Given the description of an element on the screen output the (x, y) to click on. 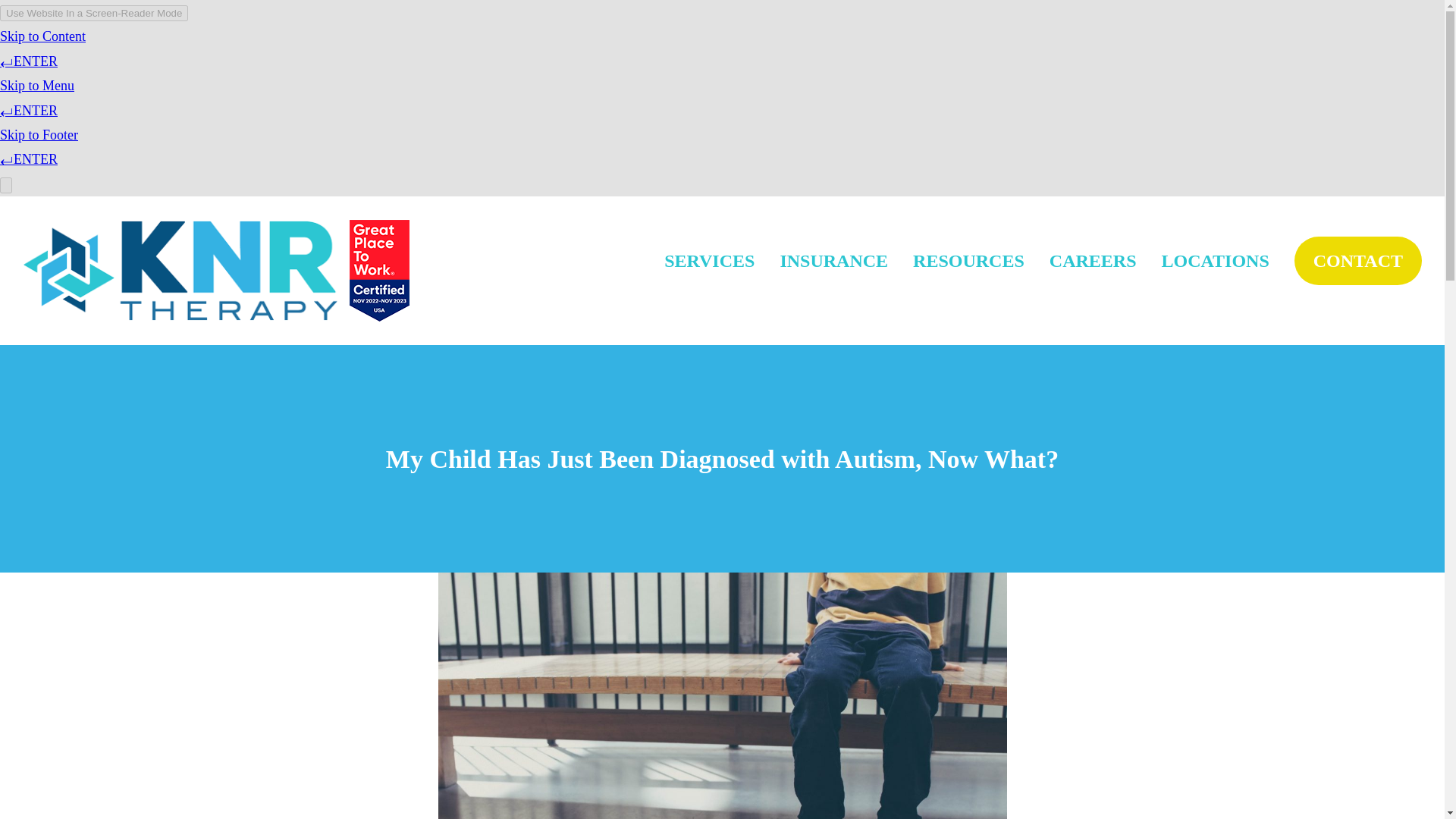
RESOURCES (968, 260)
LOCATIONS (1215, 260)
INSURANCE (833, 260)
SERVICES (708, 260)
CAREERS (1093, 260)
CONTACT (1358, 260)
